Given the description of an element on the screen output the (x, y) to click on. 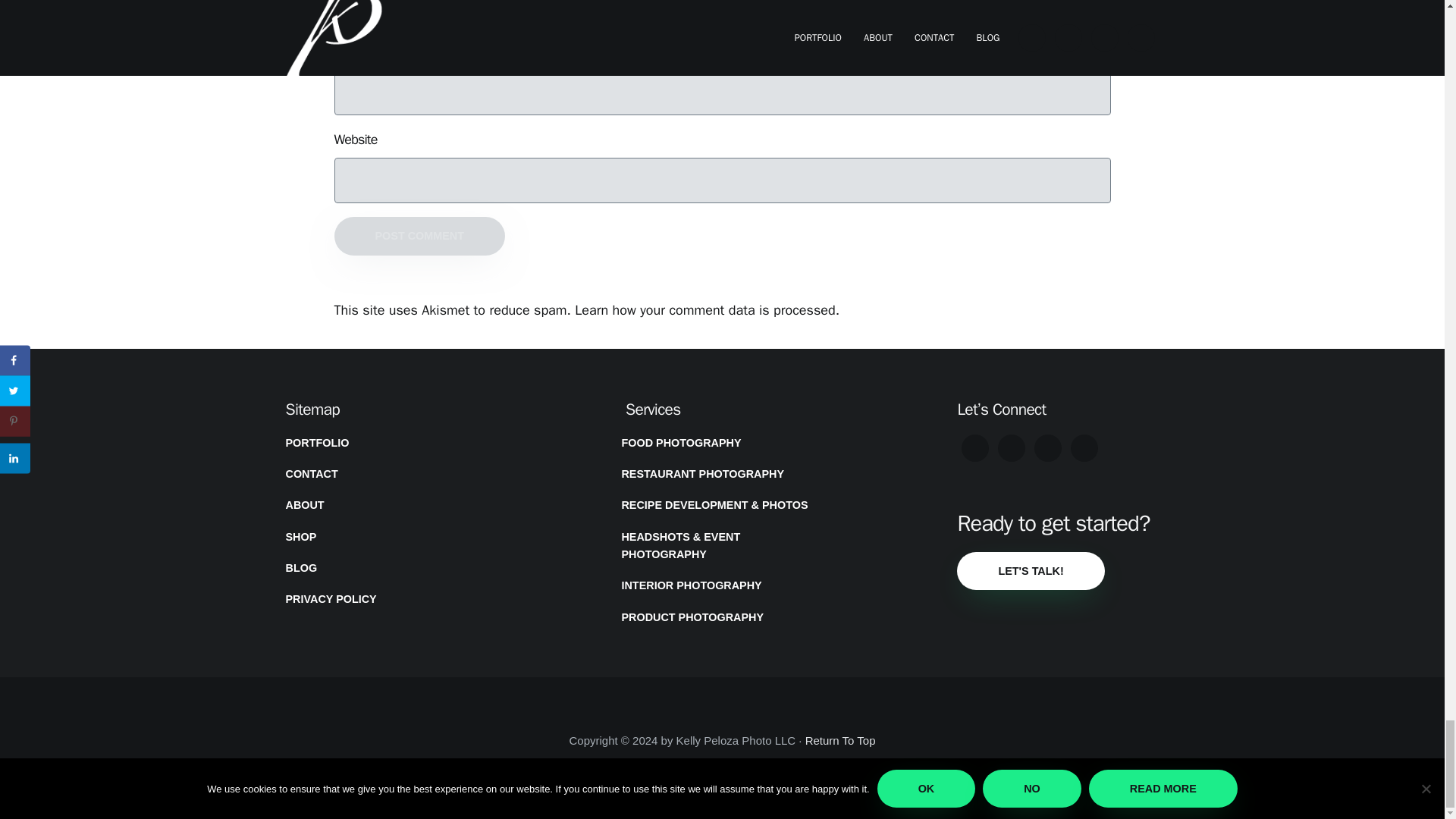
Post Comment (419, 235)
